Given the description of an element on the screen output the (x, y) to click on. 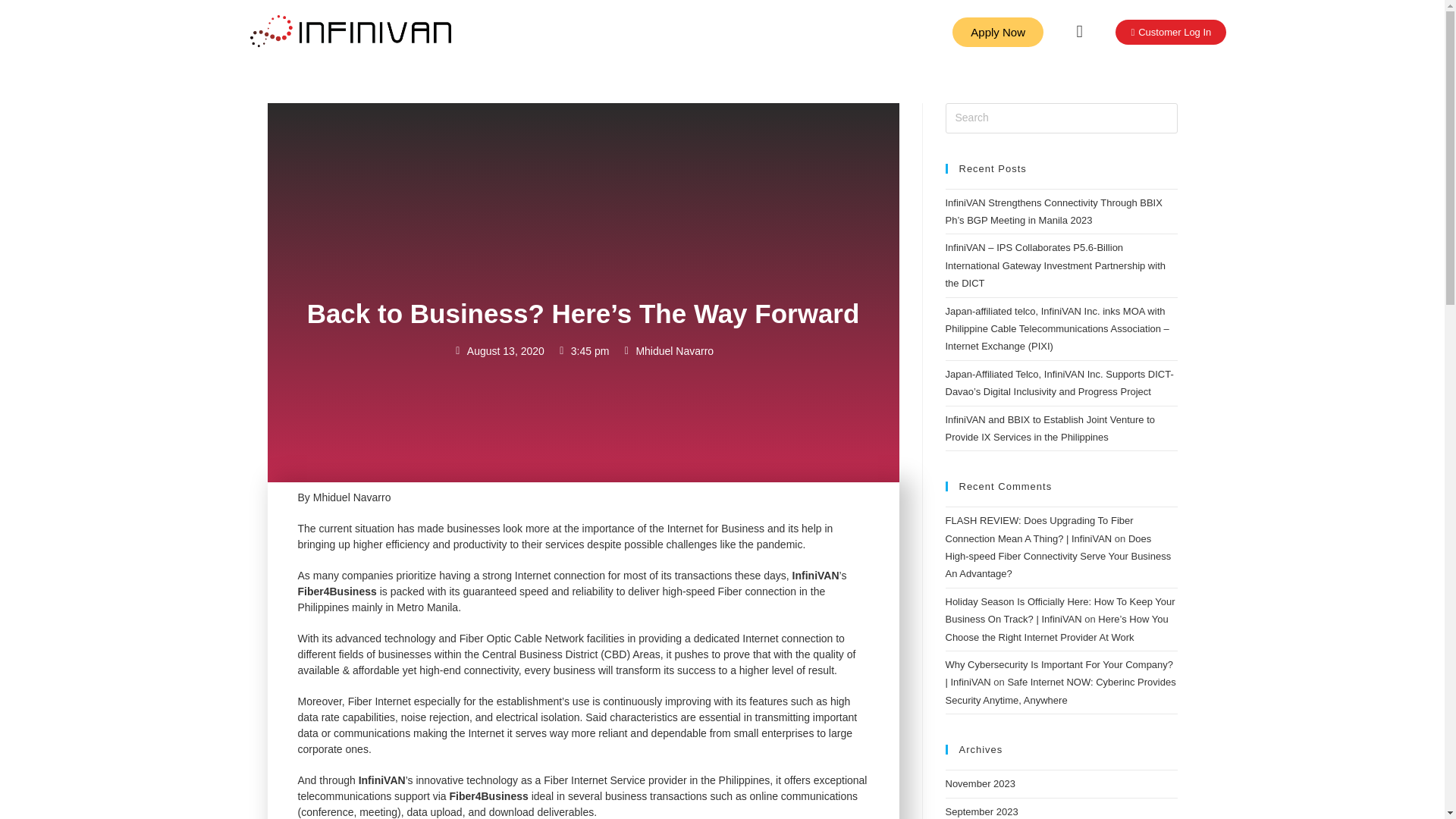
September 2023 (980, 811)
Apply Now (997, 31)
November 2023 (979, 783)
August 13, 2020 (498, 351)
Customer Log In (1170, 32)
